Given the description of an element on the screen output the (x, y) to click on. 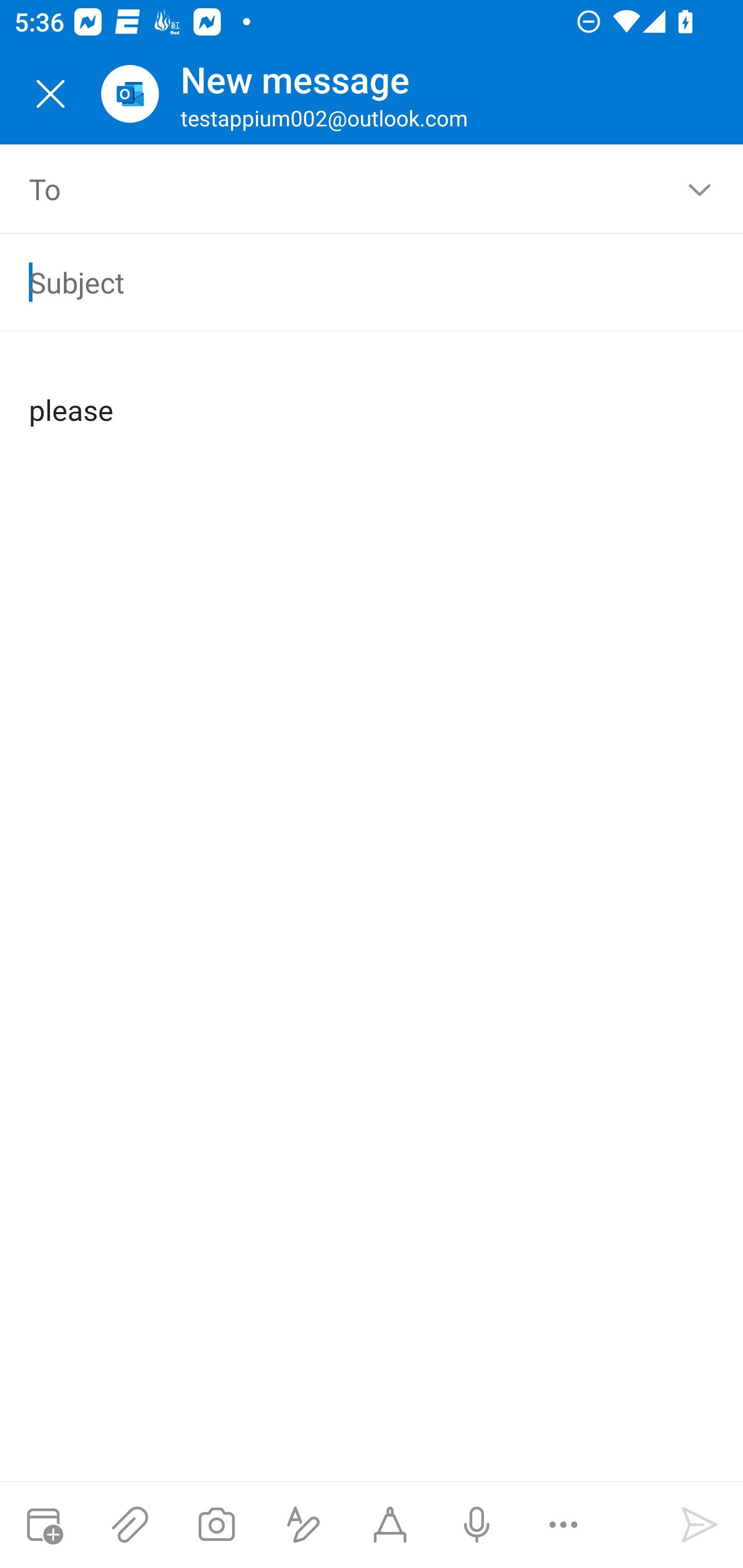
Close (50, 93)
Subject (342, 281)

please (372, 394)
Attach meeting (43, 1524)
Attach files (129, 1524)
Take a photo (216, 1524)
Show formatting options (303, 1524)
Start Ink compose (389, 1524)
Dictation (476, 1524)
More options (563, 1524)
Send (699, 1524)
